Given the description of an element on the screen output the (x, y) to click on. 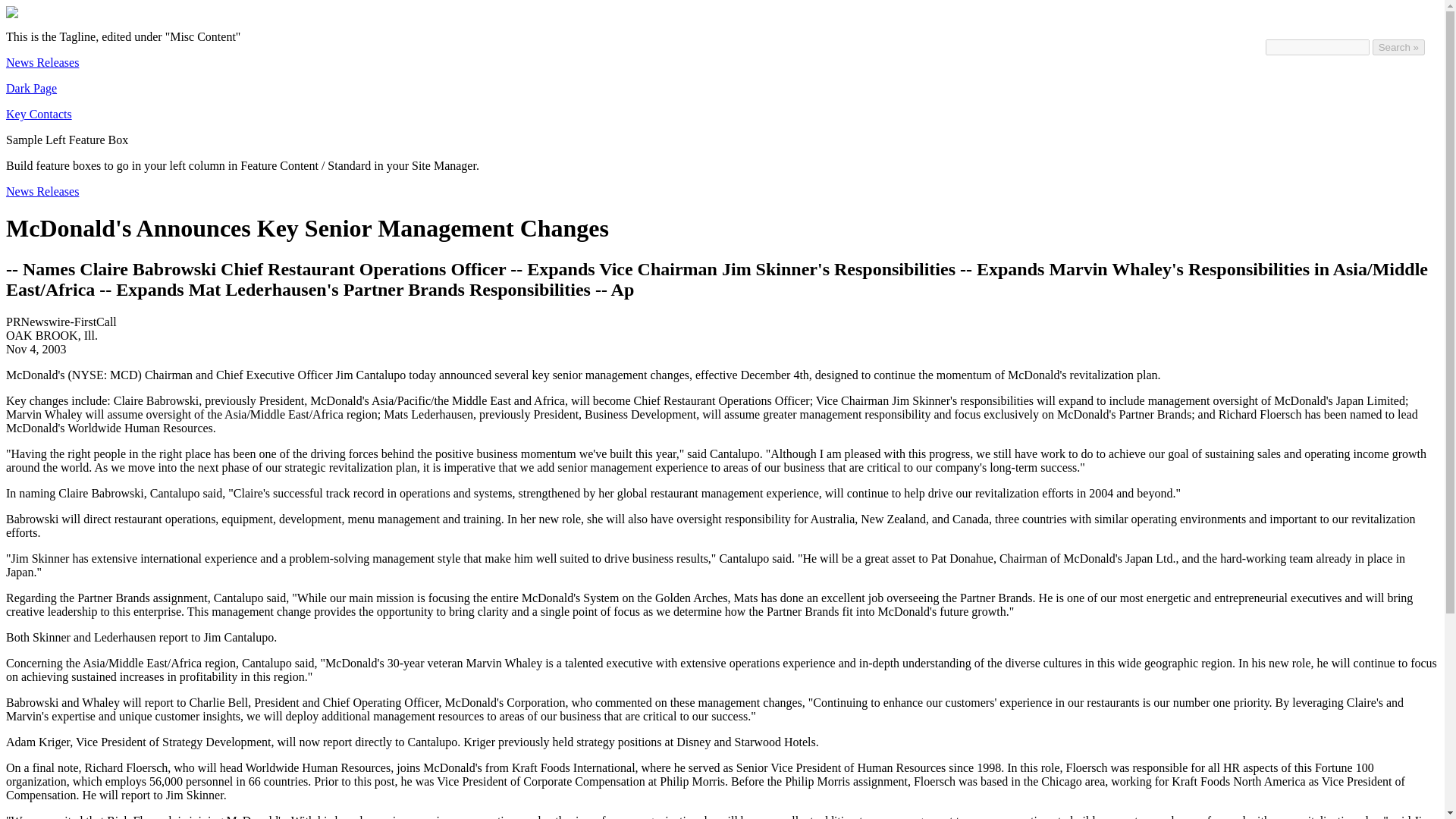
News Releases (41, 191)
News Releases (41, 62)
Dark Page (30, 88)
Key Contacts (38, 113)
